Given the description of an element on the screen output the (x, y) to click on. 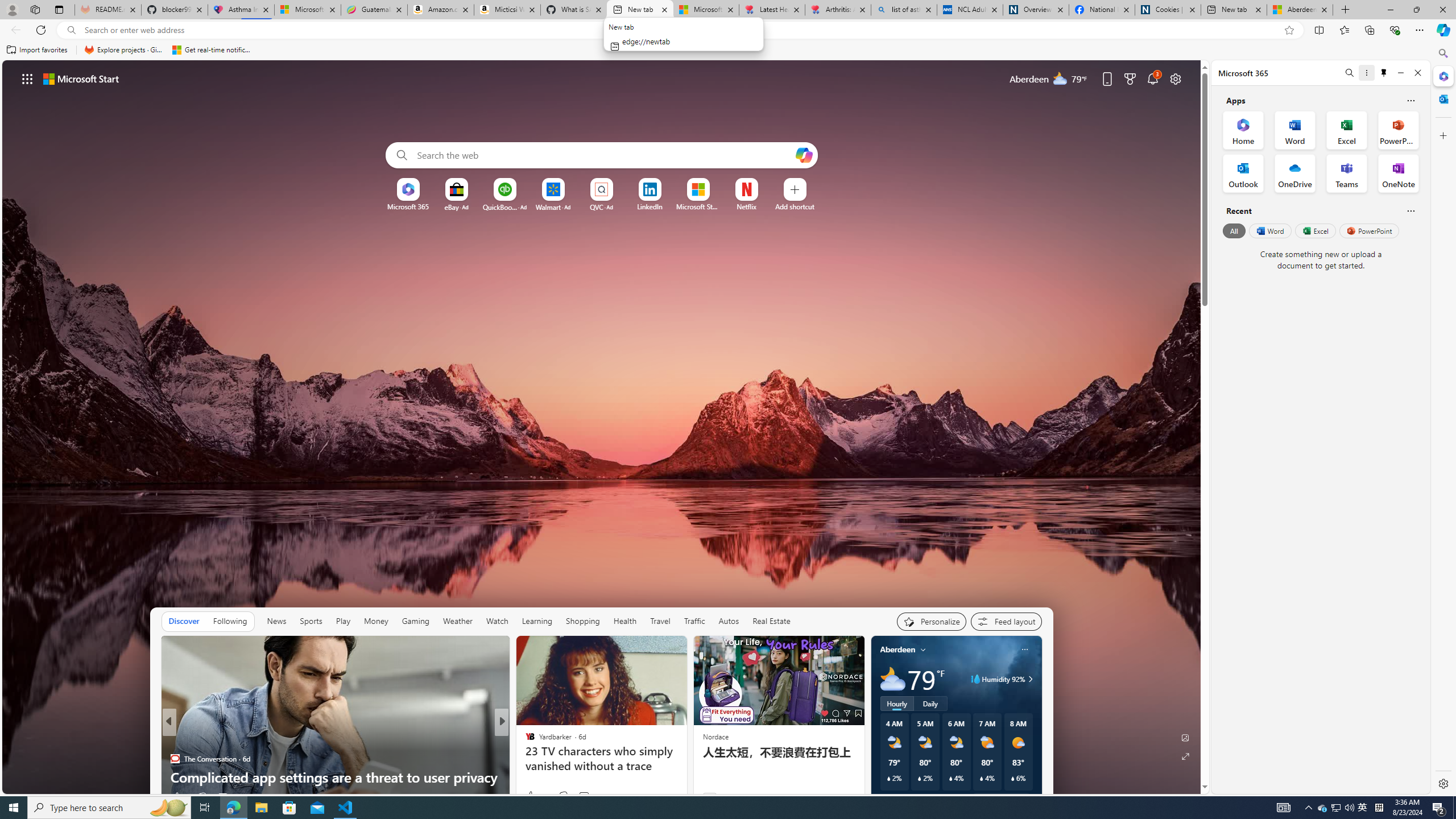
Arthritis: Ask Health Professionals (838, 9)
KFDX Wichita Falls (524, 740)
Search icon (70, 29)
Sports (310, 621)
Hourly (896, 703)
Netflix (746, 206)
View comments 2 Comment (576, 797)
App launcher (27, 78)
Sad songs say so much: 20 songs that help deal with grief (684, 767)
Unpin side pane (1383, 72)
View comments 255 Comment (583, 796)
